Given the description of an element on the screen output the (x, y) to click on. 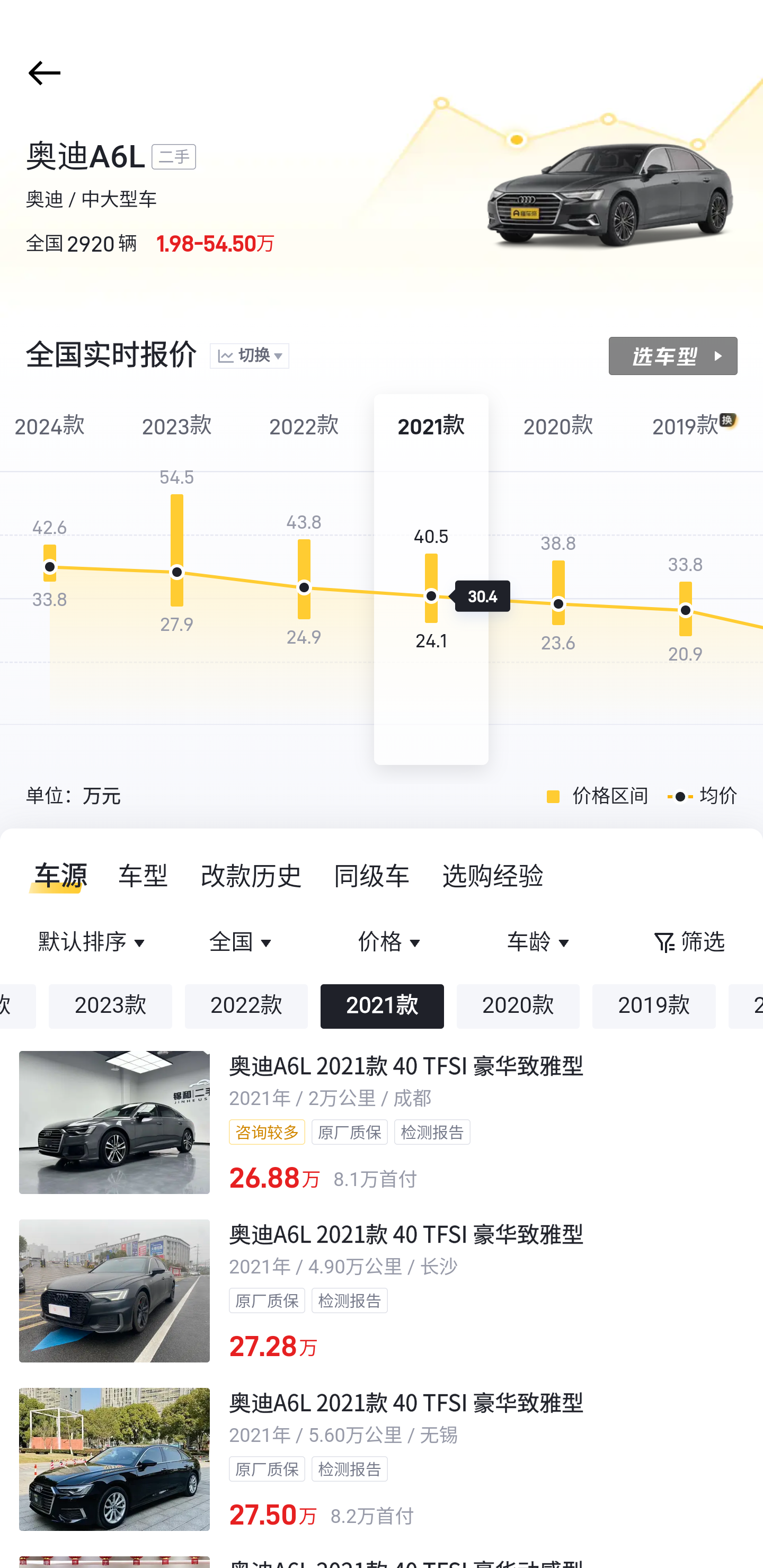
 (41, 72)
切换 (249, 356)
2024款 42.6 33.8 (54, 579)
2023款 54.5 27.9 (177, 579)
2022款 43.8 24.9 (304, 579)
2021款 40.5 24.1 (431, 579)
2020款 38.8 23.6 (558, 579)
2019 款 33.8 20.9 (685, 579)
车源 (55, 875)
车型 (143, 876)
改款历史 (251, 876)
同级车 (372, 876)
选购经验 (492, 876)
默认排序 (93, 943)
全国 (242, 943)
价格 (390, 943)
车龄 (538, 943)
筛选 (688, 943)
2023款 (110, 1006)
2022款 (246, 1006)
2021款 (381, 1006)
2020款 (517, 1006)
2019款 (654, 1006)
